Given the description of an element on the screen output the (x, y) to click on. 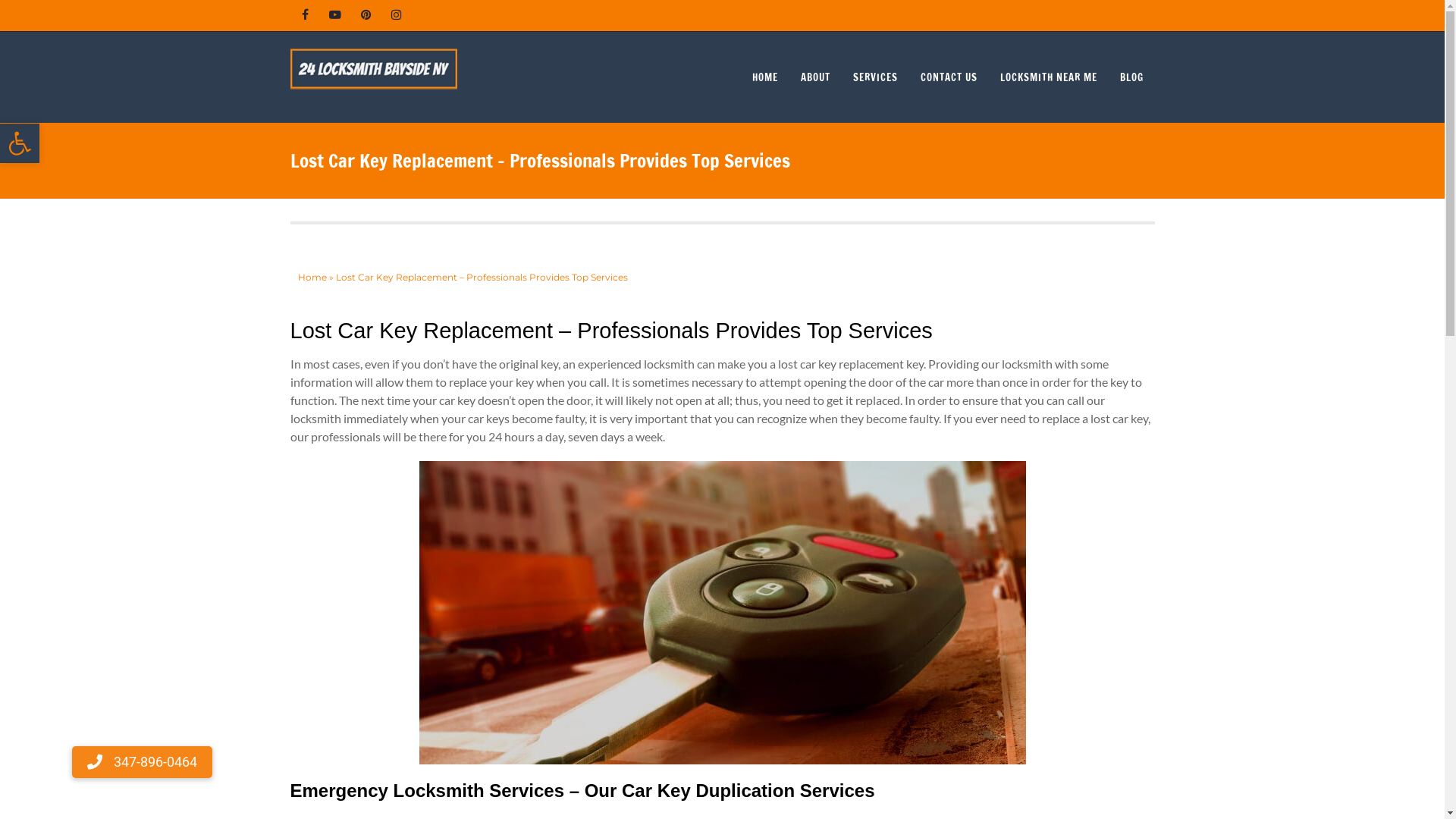
ABOUT Element type: text (814, 76)
HOME Element type: text (764, 76)
YOUTUBE Element type: text (335, 15)
Home Element type: text (311, 276)
BLOG Element type: text (1131, 76)
FACEBOOK Element type: text (304, 15)
PINTEREST Element type: text (365, 15)
347-896-0464 Element type: text (142, 762)
Open toolbar
Accessibility Tools Element type: text (19, 143)
CONTACT US Element type: text (948, 76)
SERVICES Element type: text (875, 76)
INSTAGRAM Element type: text (395, 15)
LOCKSMITH NEAR ME Element type: text (1048, 76)
